Given the description of an element on the screen output the (x, y) to click on. 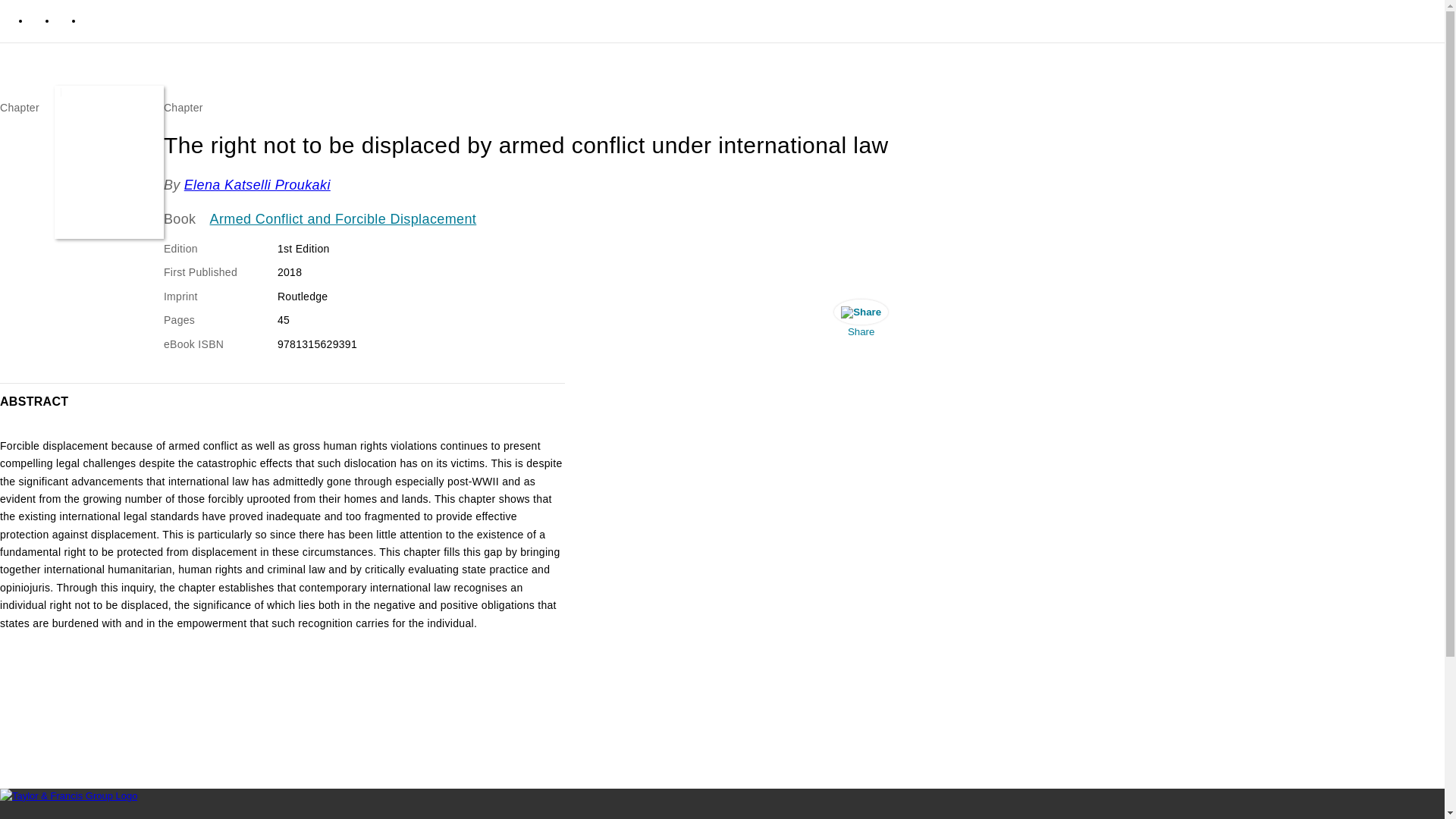
Elena Katselli Proukaki (257, 184)
Share (860, 321)
Armed Conflict and Forcible Displacement (343, 219)
